Given the description of an element on the screen output the (x, y) to click on. 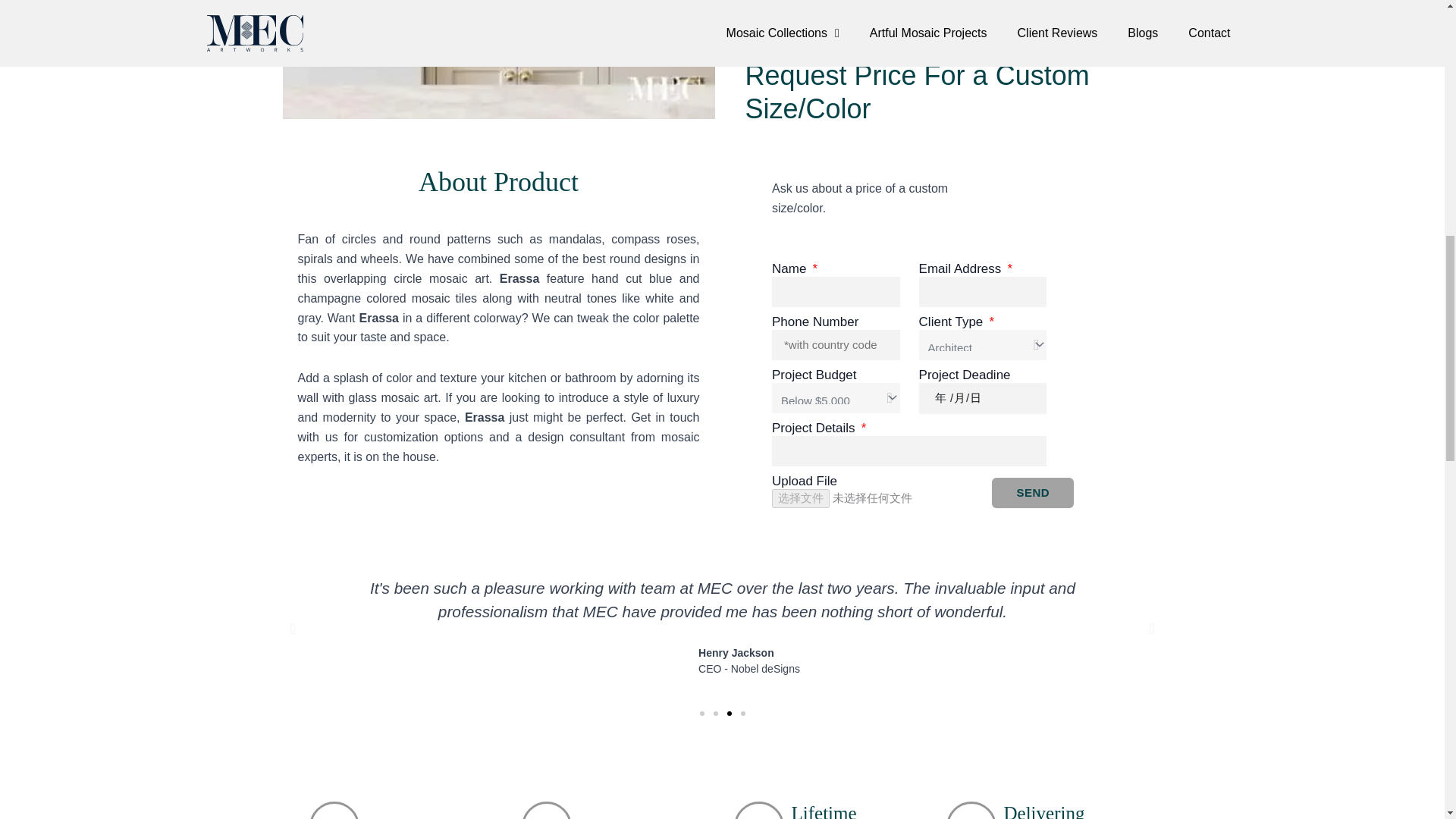
Erassa-custom-handcrafted-glass-mosaic-backsplash-mec (498, 59)
